Given the description of an element on the screen output the (x, y) to click on. 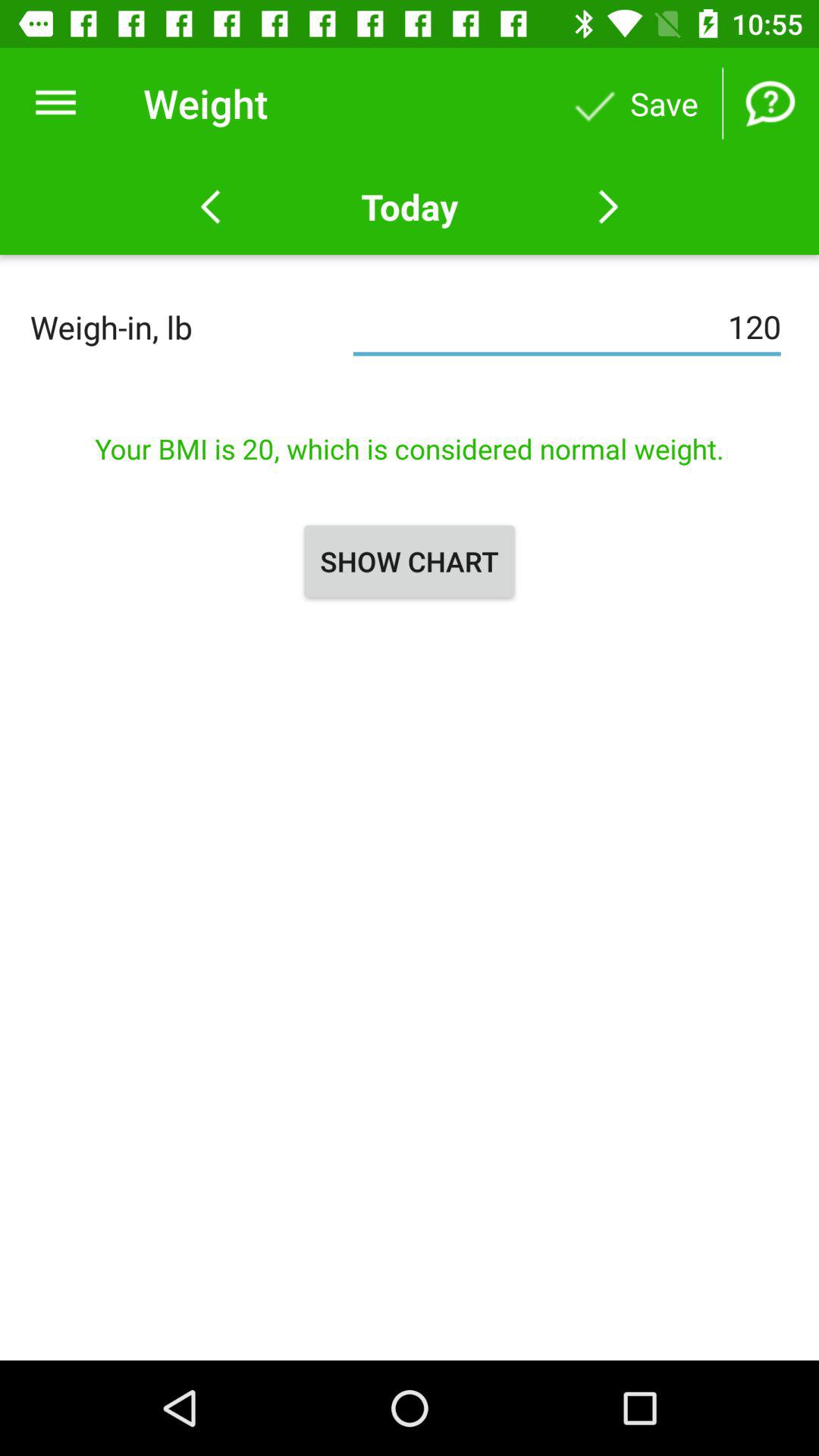
launch the show chart (409, 561)
